Given the description of an element on the screen output the (x, y) to click on. 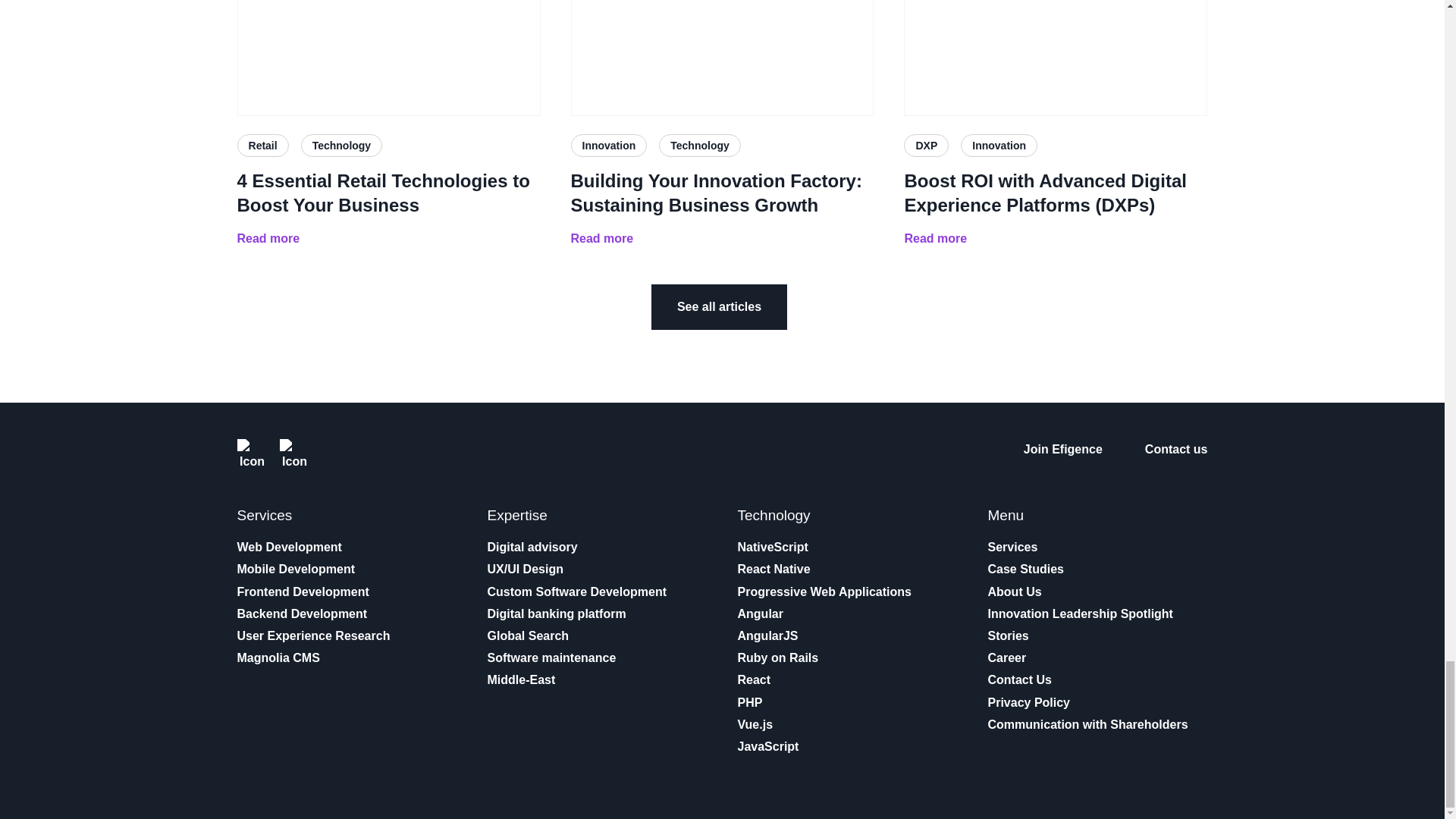
4 Essential Retail Technologies to Boost Your Business (388, 58)
Building Your Innovation Factory: Sustaining Business Growth (721, 192)
Technology (341, 145)
Innovation (608, 145)
See all articles (718, 307)
Technology (700, 145)
Read more (268, 239)
LinkedIn (250, 453)
Innovation (998, 145)
Technology (700, 145)
